Given the description of an element on the screen output the (x, y) to click on. 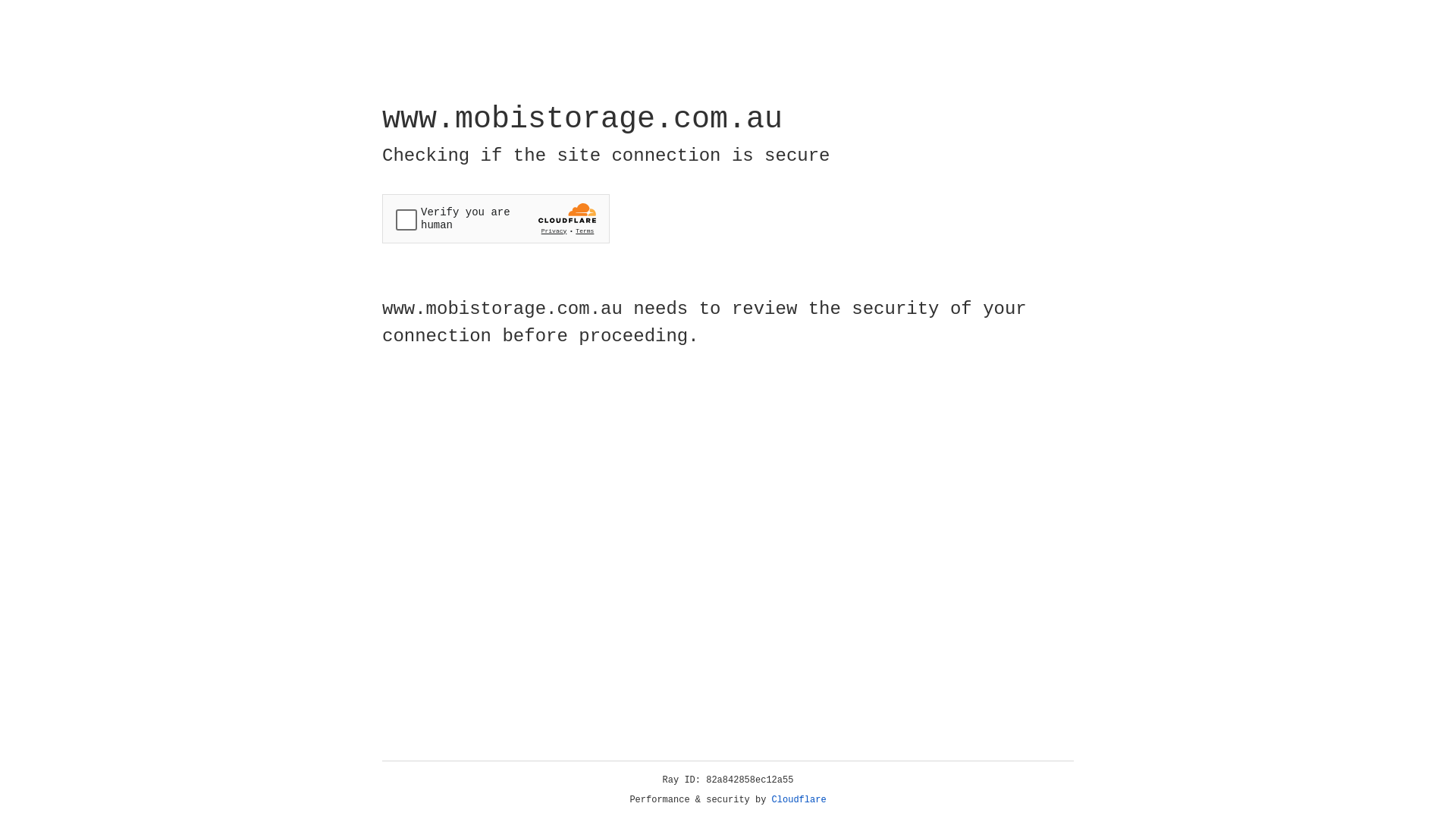
Cloudflare Element type: text (798, 799)
Widget containing a Cloudflare security challenge Element type: hover (495, 218)
